Given the description of an element on the screen output the (x, y) to click on. 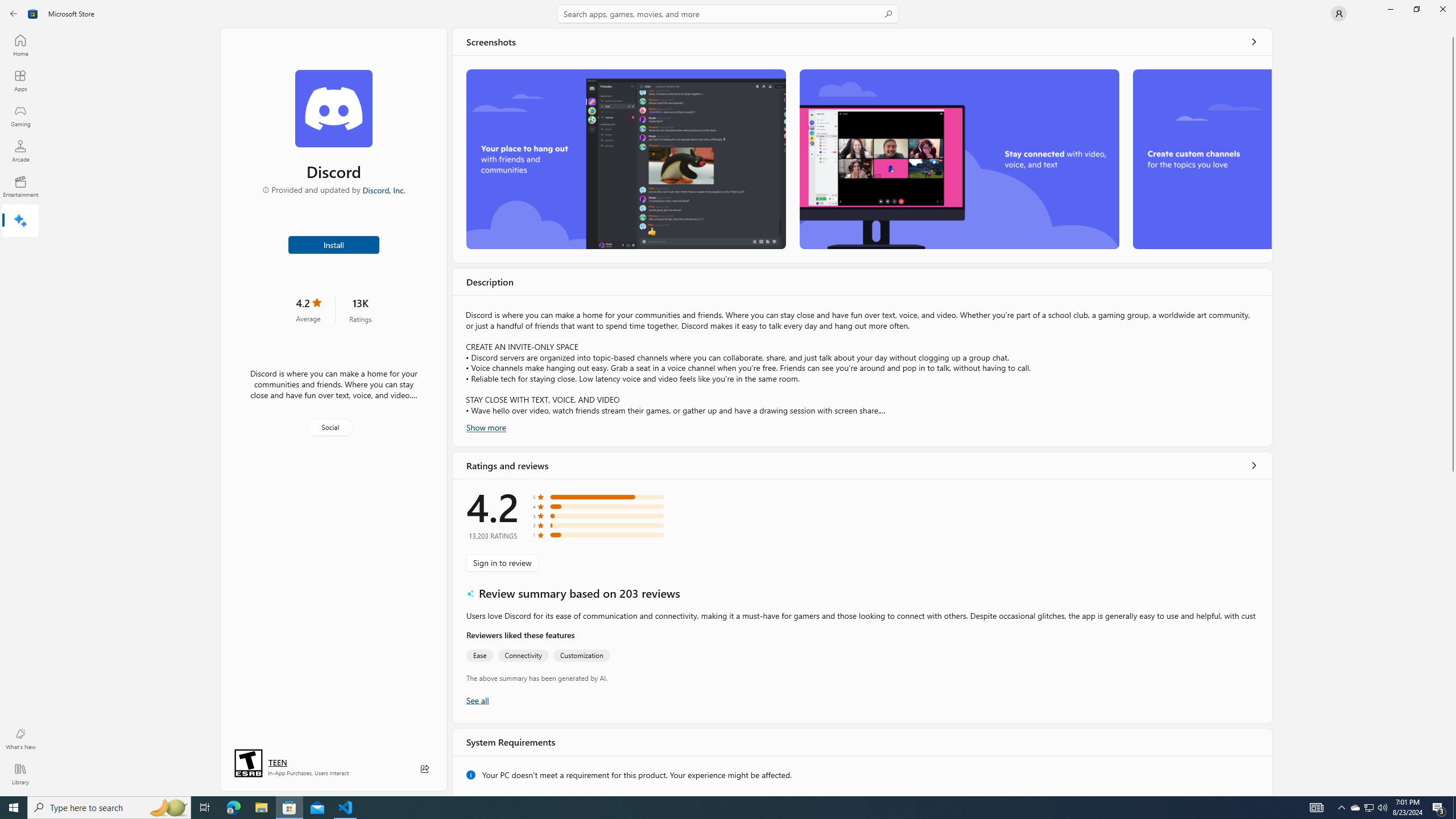
Apps (20, 80)
Restore Microsoft Store (1416, 9)
Screenshot 2 (959, 158)
Arcade (20, 150)
Library (20, 773)
User profile (1338, 13)
Entertainment (20, 185)
Show all ratings and reviews (1253, 465)
Screenshot 3 (1201, 158)
See all (1253, 41)
Show more (485, 426)
Show all ratings and reviews (477, 710)
4.2 stars. Click to skip to ratings and reviews (307, 309)
Class: Image (32, 13)
Minimize Microsoft Store (1390, 9)
